Given the description of an element on the screen output the (x, y) to click on. 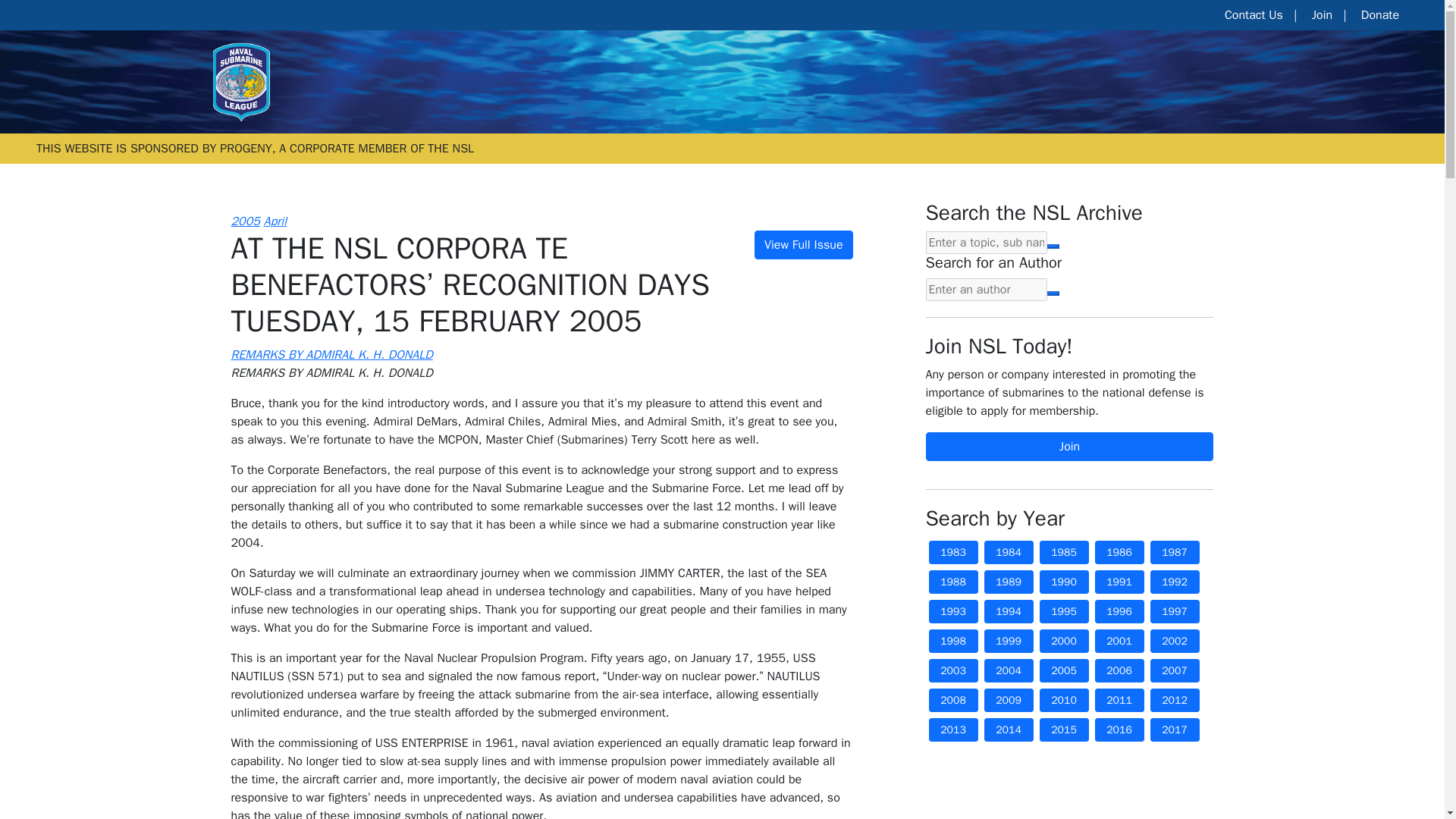
1992 (1174, 581)
2011 (1119, 699)
Donate (1380, 14)
1995 (1063, 611)
1988 (952, 581)
Join (1068, 446)
1993 (952, 611)
1987 (1174, 552)
1984 (1008, 552)
1989 (1008, 581)
